Given the description of an element on the screen output the (x, y) to click on. 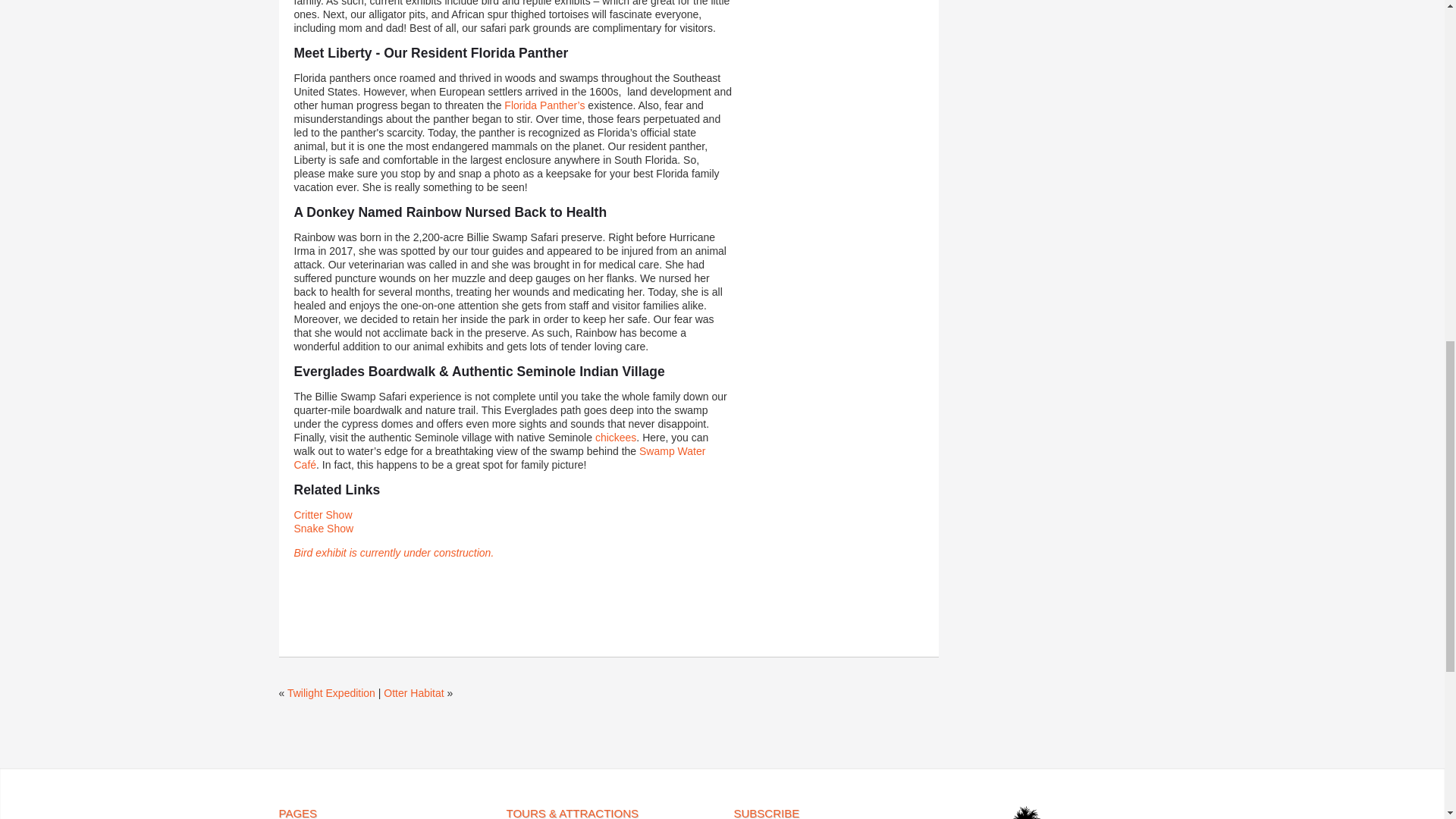
Otter Habitat (414, 693)
chickees (615, 437)
Snake Show (323, 528)
Critter Show (323, 514)
Twilight Expedition (330, 693)
